Given the description of an element on the screen output the (x, y) to click on. 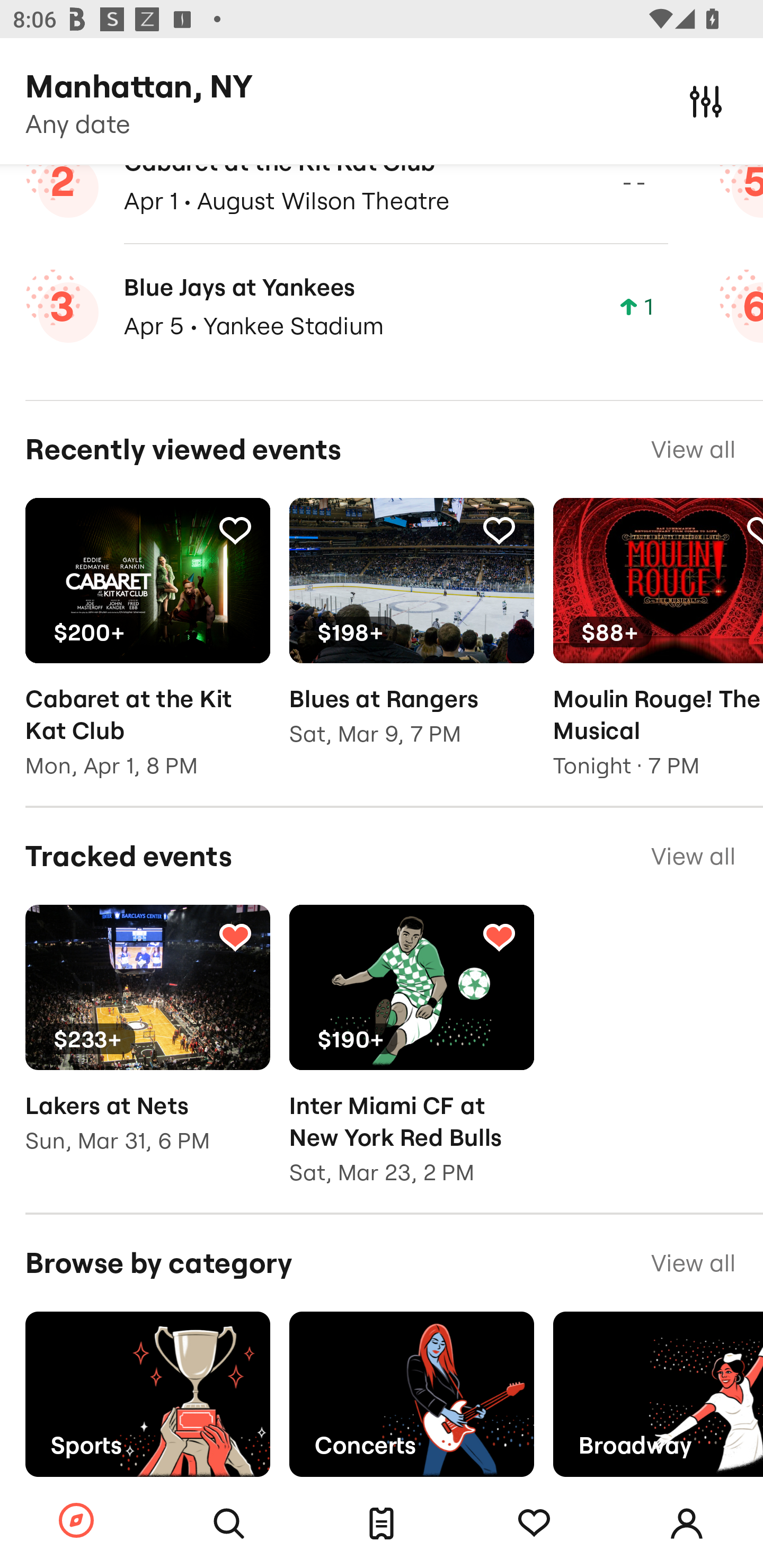
Filters (705, 100)
View all (693, 449)
Tracking $198+ Blues at Rangers Sat, Mar 9, 7 PM (411, 635)
Tracking (234, 529)
Tracking (498, 529)
View all (693, 855)
Tracking $233+ Lakers at Nets Sun, Mar 31, 6 PM (147, 1041)
Tracking (234, 935)
Tracking (498, 935)
View all (693, 1262)
Sports (147, 1393)
Concerts (411, 1393)
Broadway (658, 1393)
Browse (76, 1521)
Search (228, 1523)
Tickets (381, 1523)
Tracking (533, 1523)
Account (686, 1523)
